Given the description of an element on the screen output the (x, y) to click on. 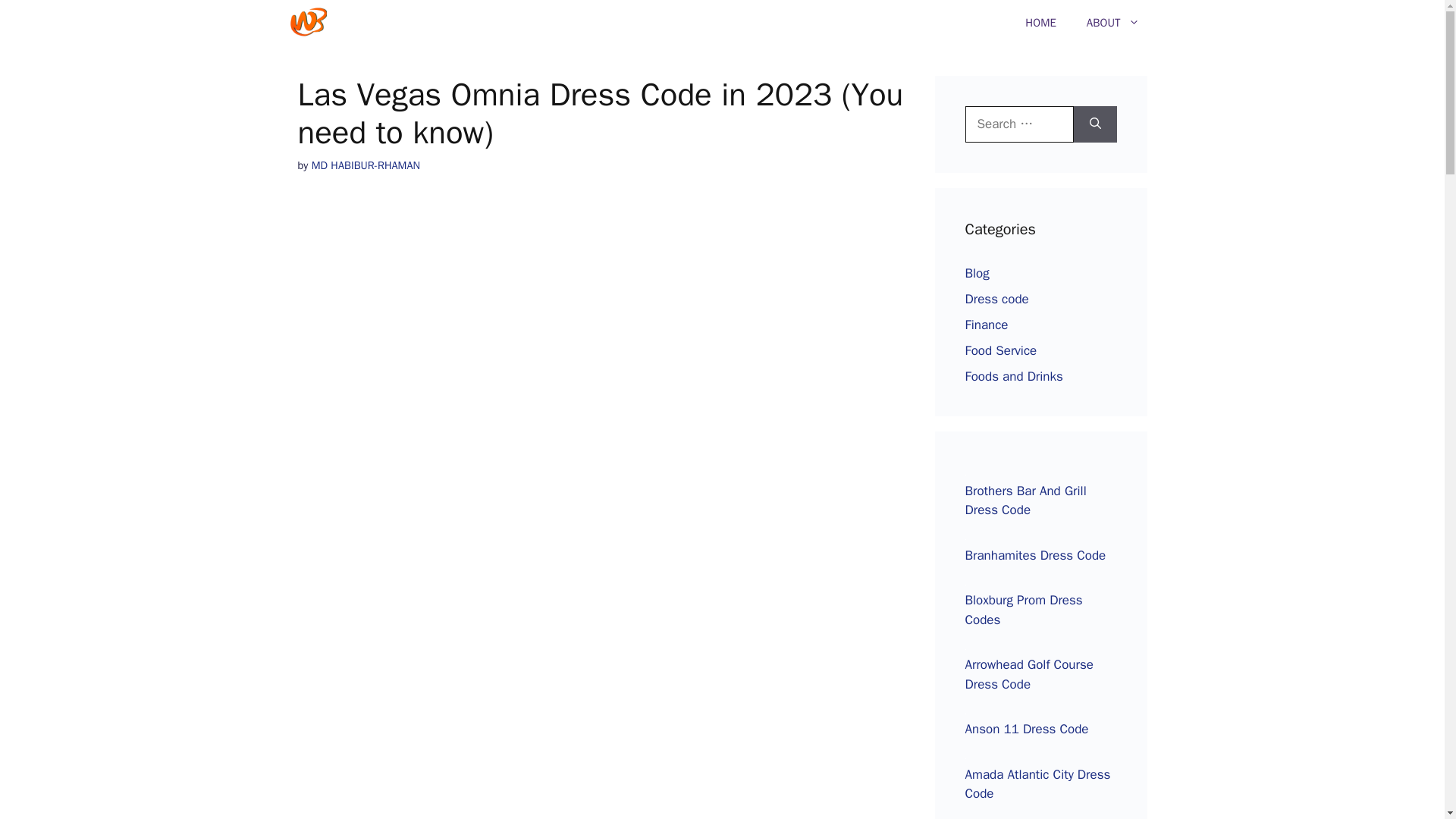
Food Service (999, 350)
View all posts by MD HABIBUR-RHAMAN (365, 164)
Finance (985, 324)
Dress code (995, 299)
HOME (1040, 22)
Foods and Drinks (1012, 376)
Bloxburg Prom Dress Codes (1022, 610)
Brothers Bar And Grill Dress Code (1024, 499)
Blog (975, 273)
MD HABIBUR-RHAMAN (365, 164)
